Given the description of an element on the screen output the (x, y) to click on. 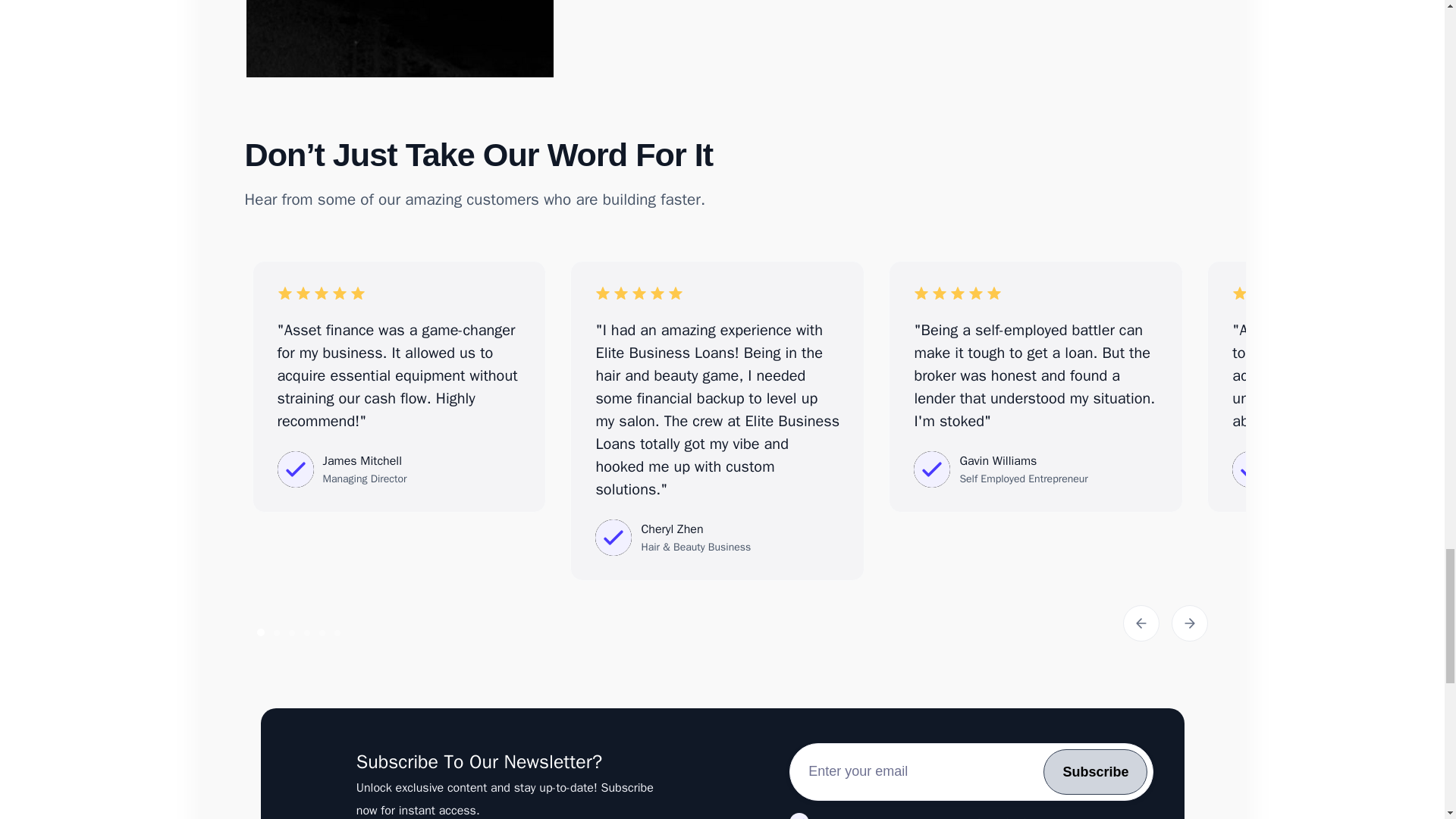
Subscribe (1095, 771)
Subscribe (1095, 771)
